Given the description of an element on the screen output the (x, y) to click on. 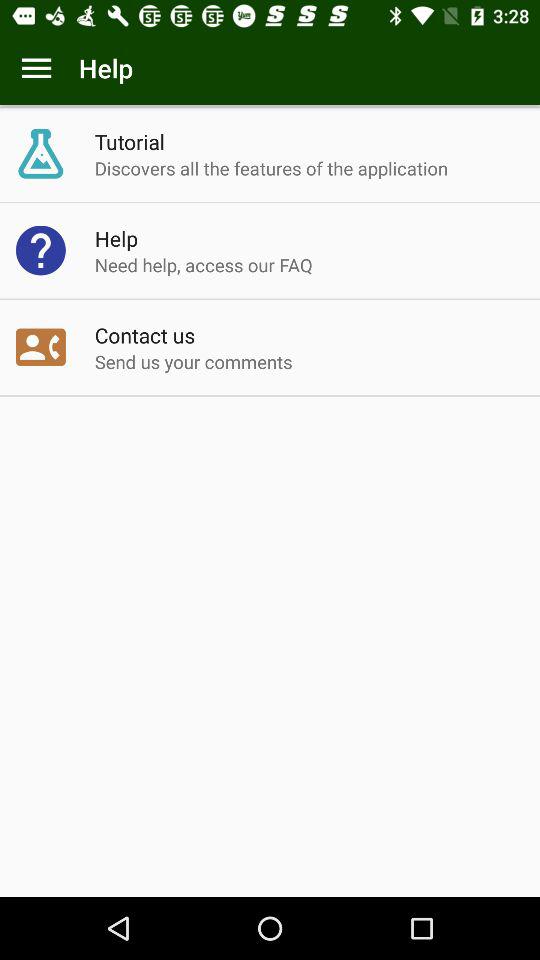
open the app next to the help item (36, 68)
